Given the description of an element on the screen output the (x, y) to click on. 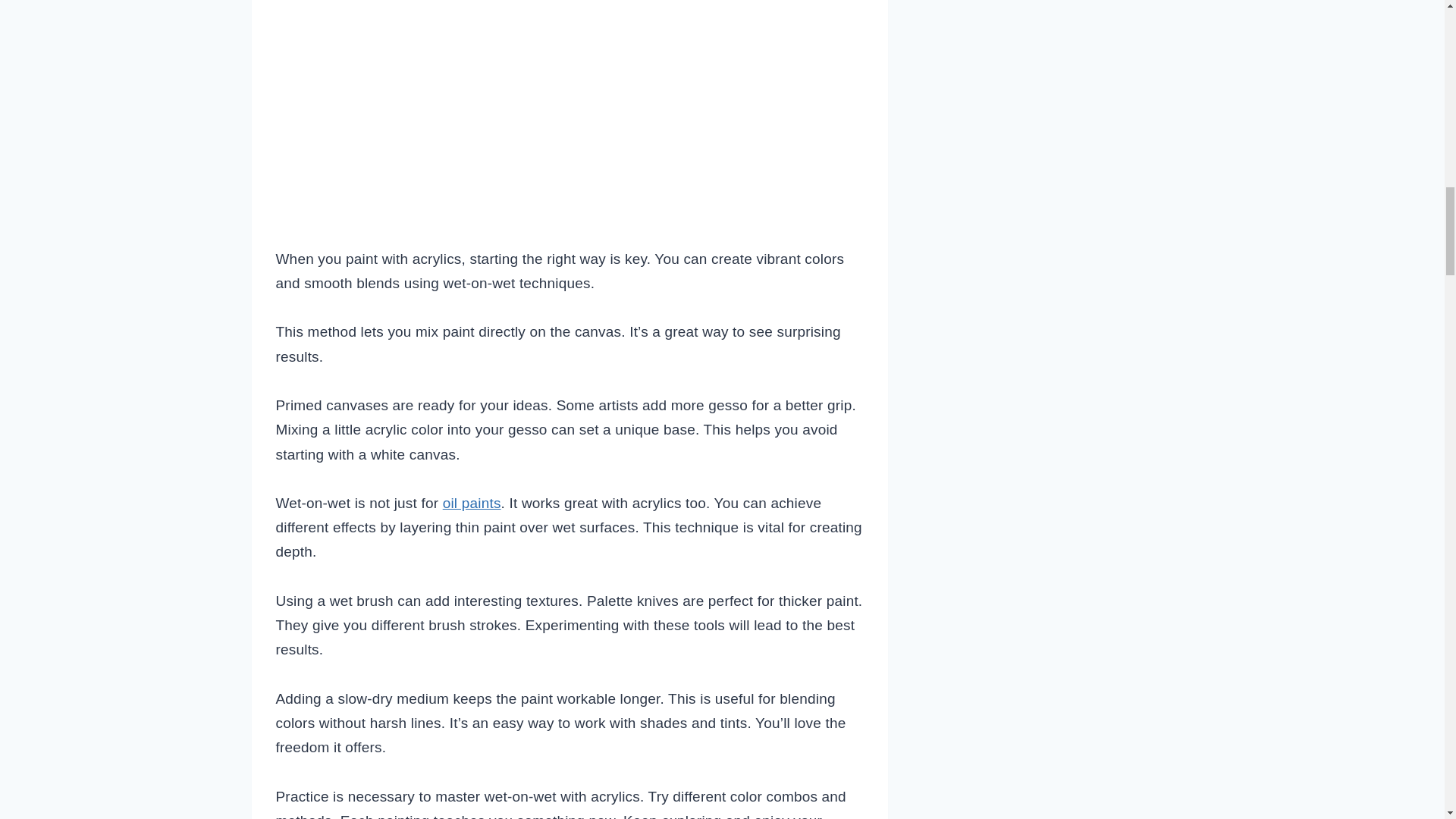
oil paints (471, 503)
